Given the description of an element on the screen output the (x, y) to click on. 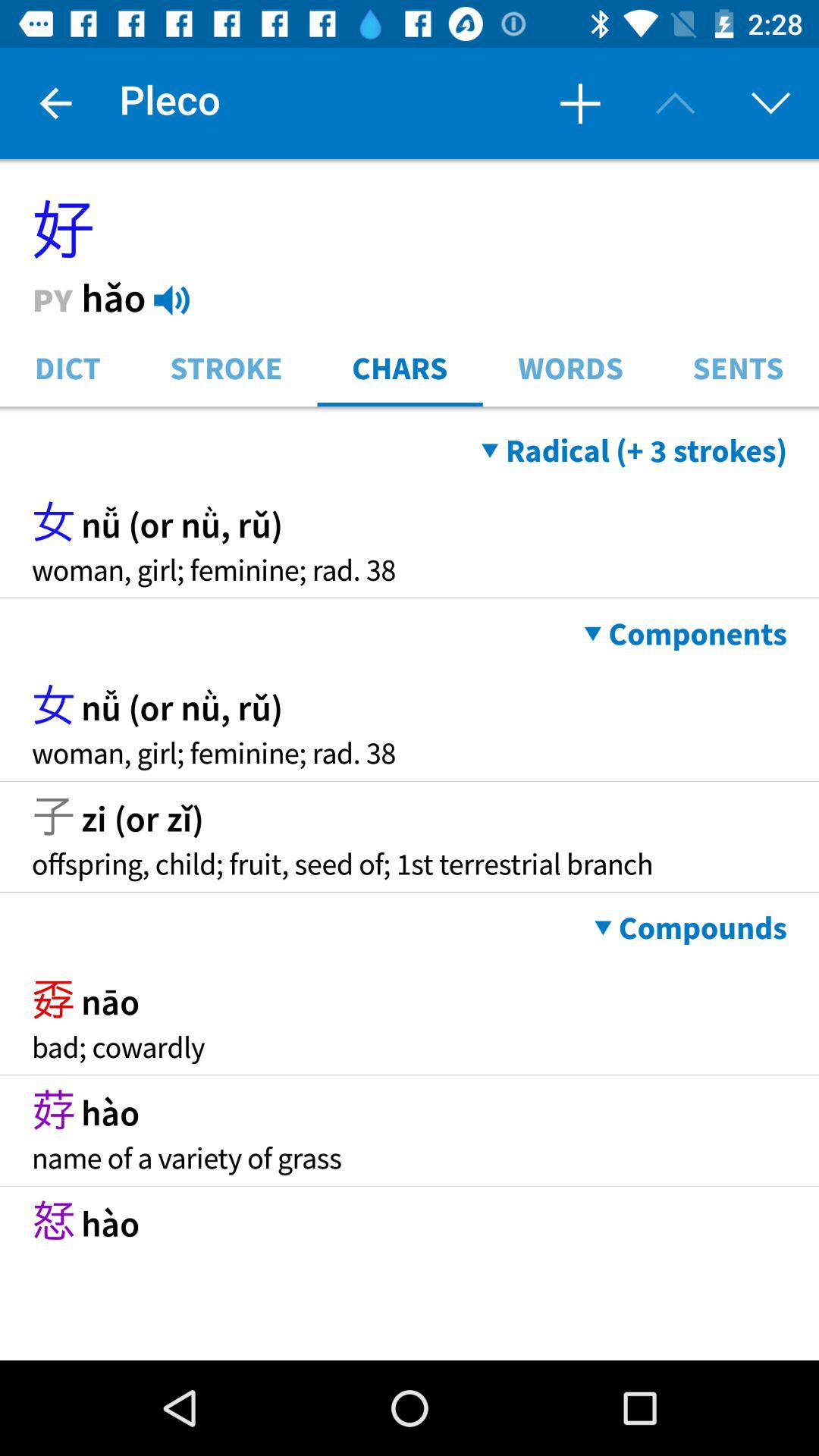
turn off icon to the left of the words item (399, 366)
